Given the description of an element on the screen output the (x, y) to click on. 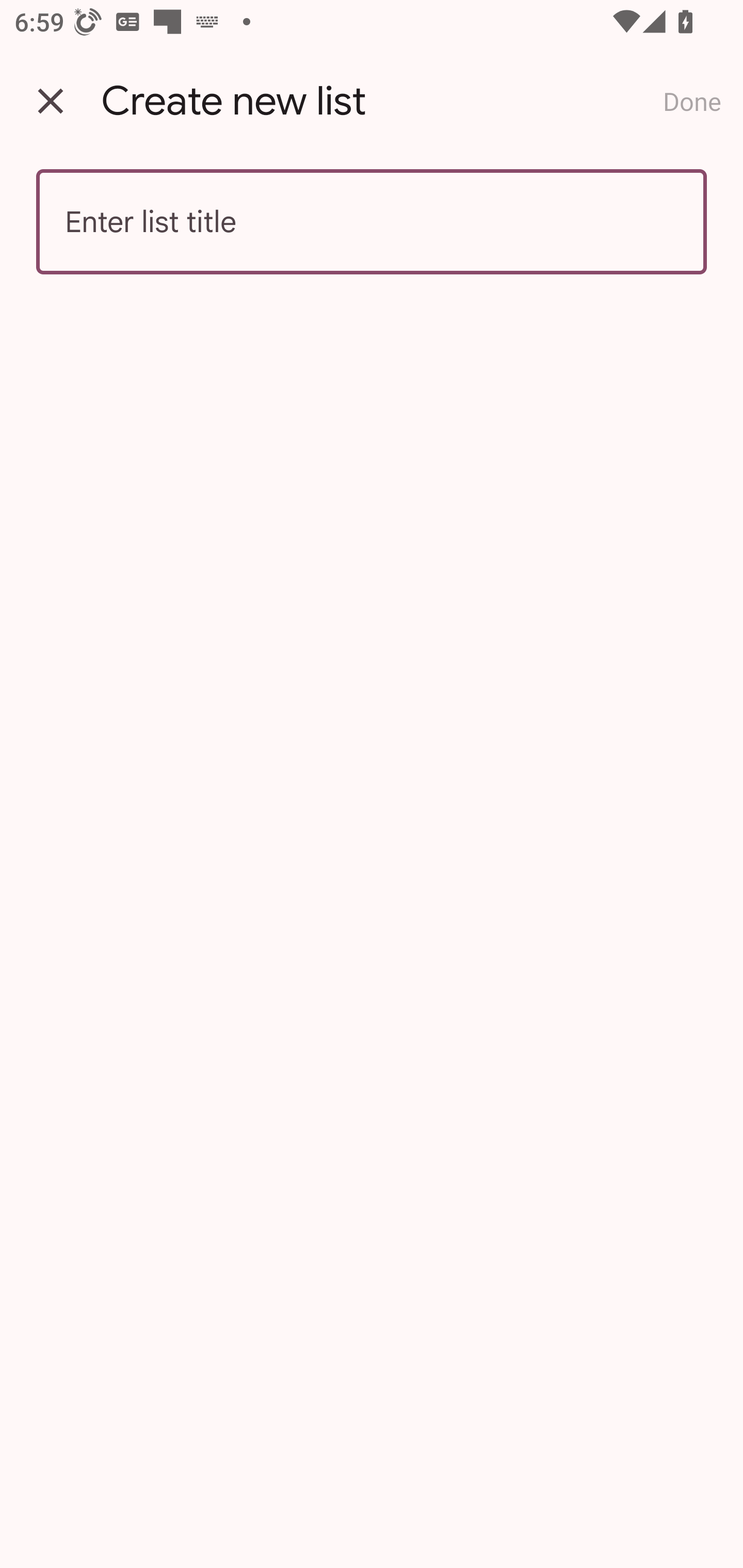
Back (50, 101)
Done (692, 101)
Enter list title (371, 221)
